Given the description of an element on the screen output the (x, y) to click on. 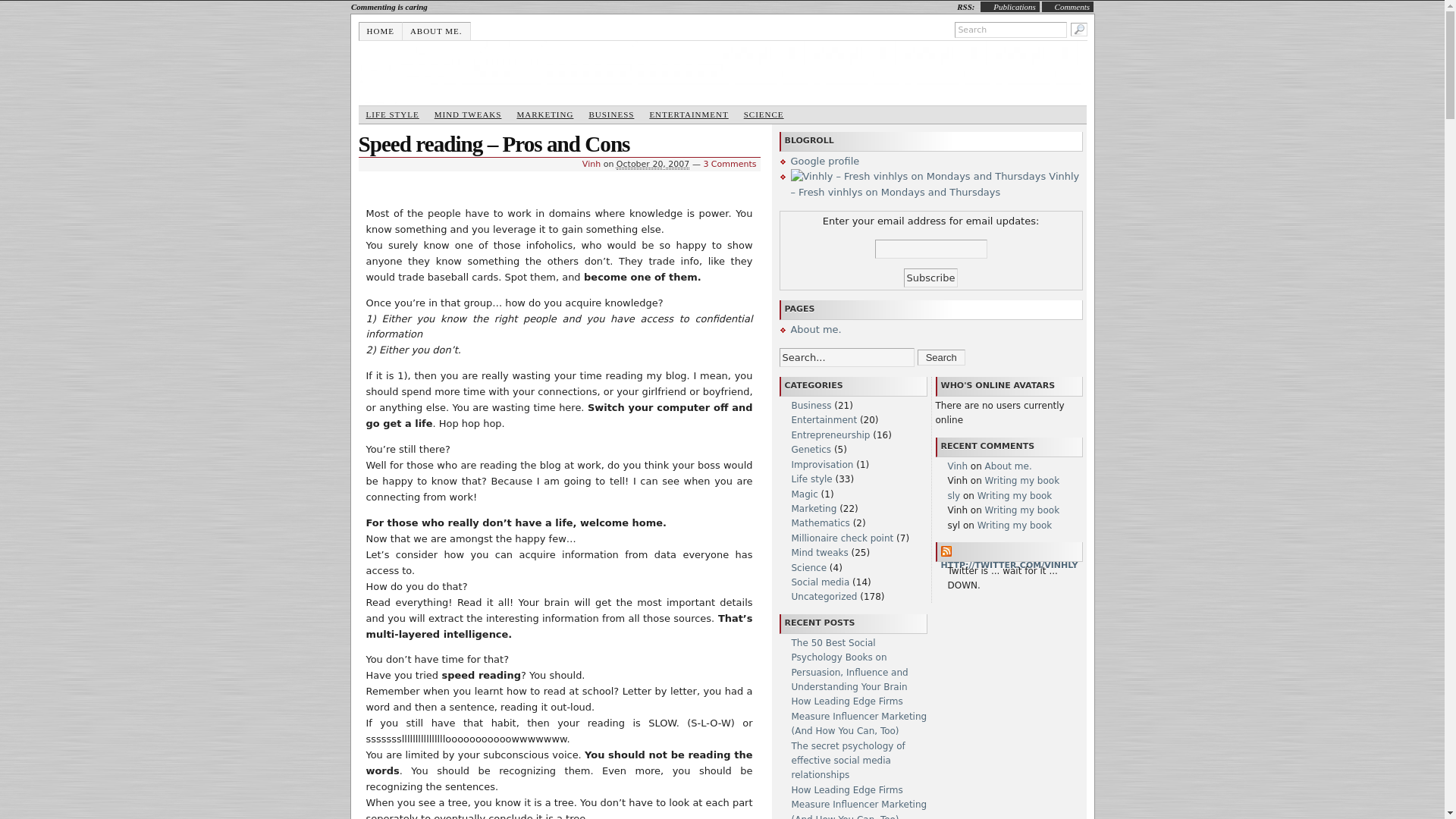
3 Comments (729, 163)
HOME (381, 30)
Search... (846, 357)
MIND TWEAKS (467, 114)
View all posts filed under Marketing (544, 114)
Publications (1013, 6)
Vinh (590, 163)
BUSINESS (611, 114)
View all posts filed under Mind tweaks (467, 114)
MARKETING (544, 114)
LIFE STYLE (392, 114)
About me. (436, 30)
View all posts filed under Entertainment (688, 114)
Home (381, 30)
Marketing BS (722, 69)
